Given the description of an element on the screen output the (x, y) to click on. 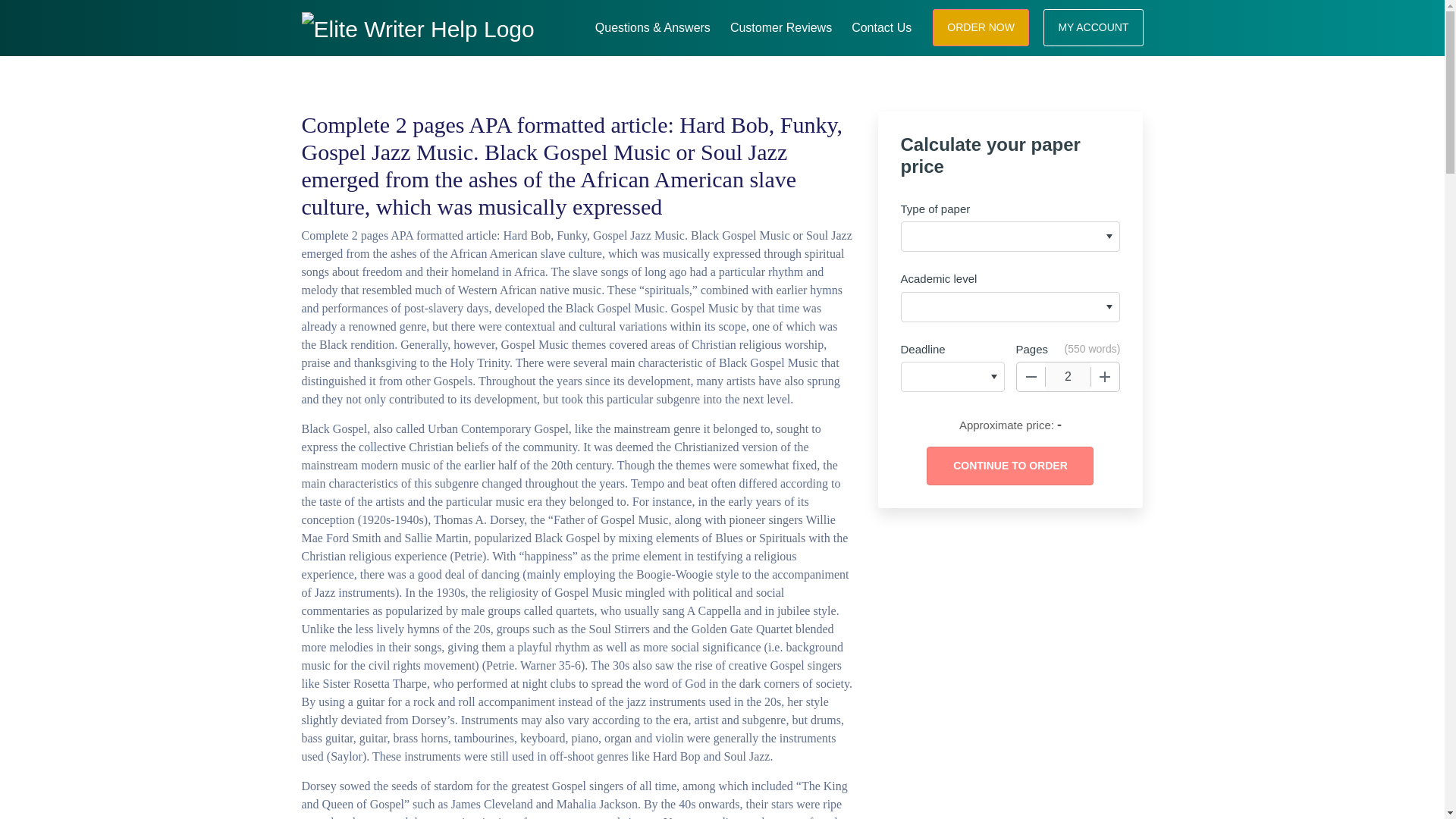
2 (1067, 376)
Continue to order (1009, 465)
Increase (1104, 376)
Continue to order (1009, 465)
Customer Reviews (780, 25)
Decrease (1030, 376)
Contact Us (881, 25)
Contact Us (881, 25)
ORDER NOW (981, 27)
MY ACCOUNT (1092, 27)
Customer Reviews (780, 25)
